Given the description of an element on the screen output the (x, y) to click on. 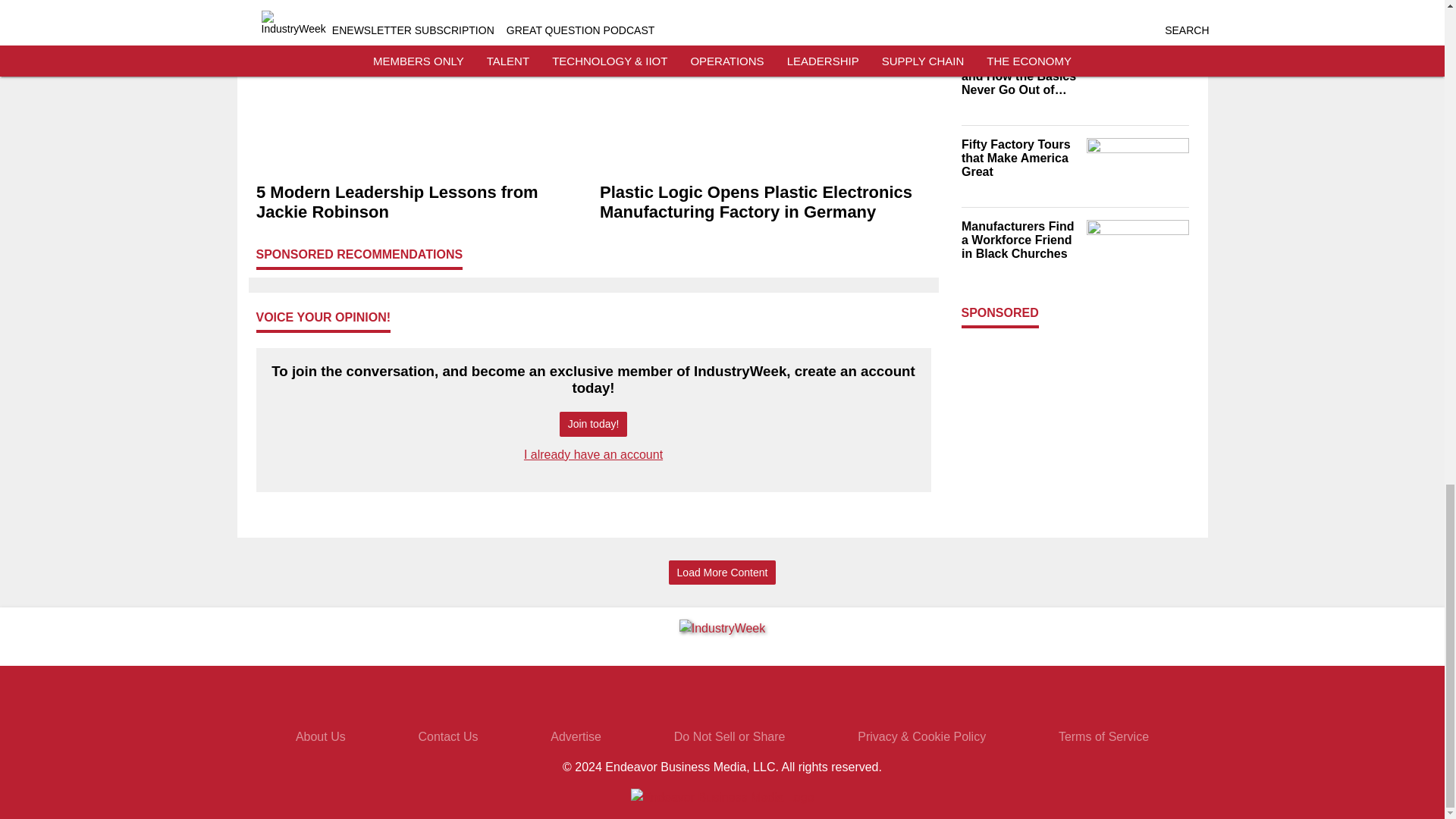
I already have an account (593, 454)
Join today! (593, 423)
5 Modern Leadership Lessons from Jackie Robinson (422, 201)
